Given the description of an element on the screen output the (x, y) to click on. 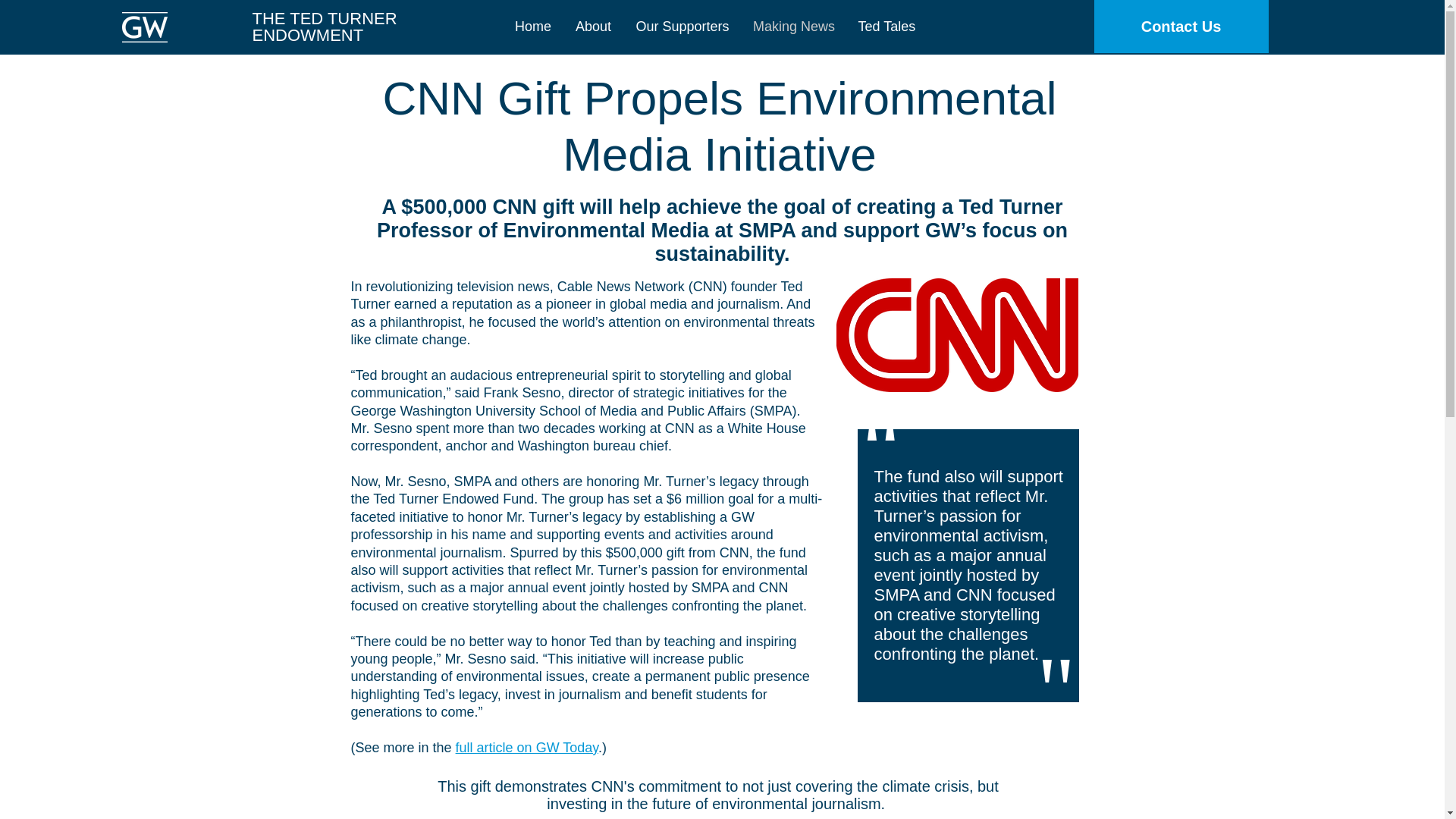
Contact Us (1180, 26)
Home (533, 26)
full article on GW Today (526, 747)
Ted Tales (884, 26)
Making News (794, 26)
About (592, 26)
Our Supporters (682, 26)
